Given the description of an element on the screen output the (x, y) to click on. 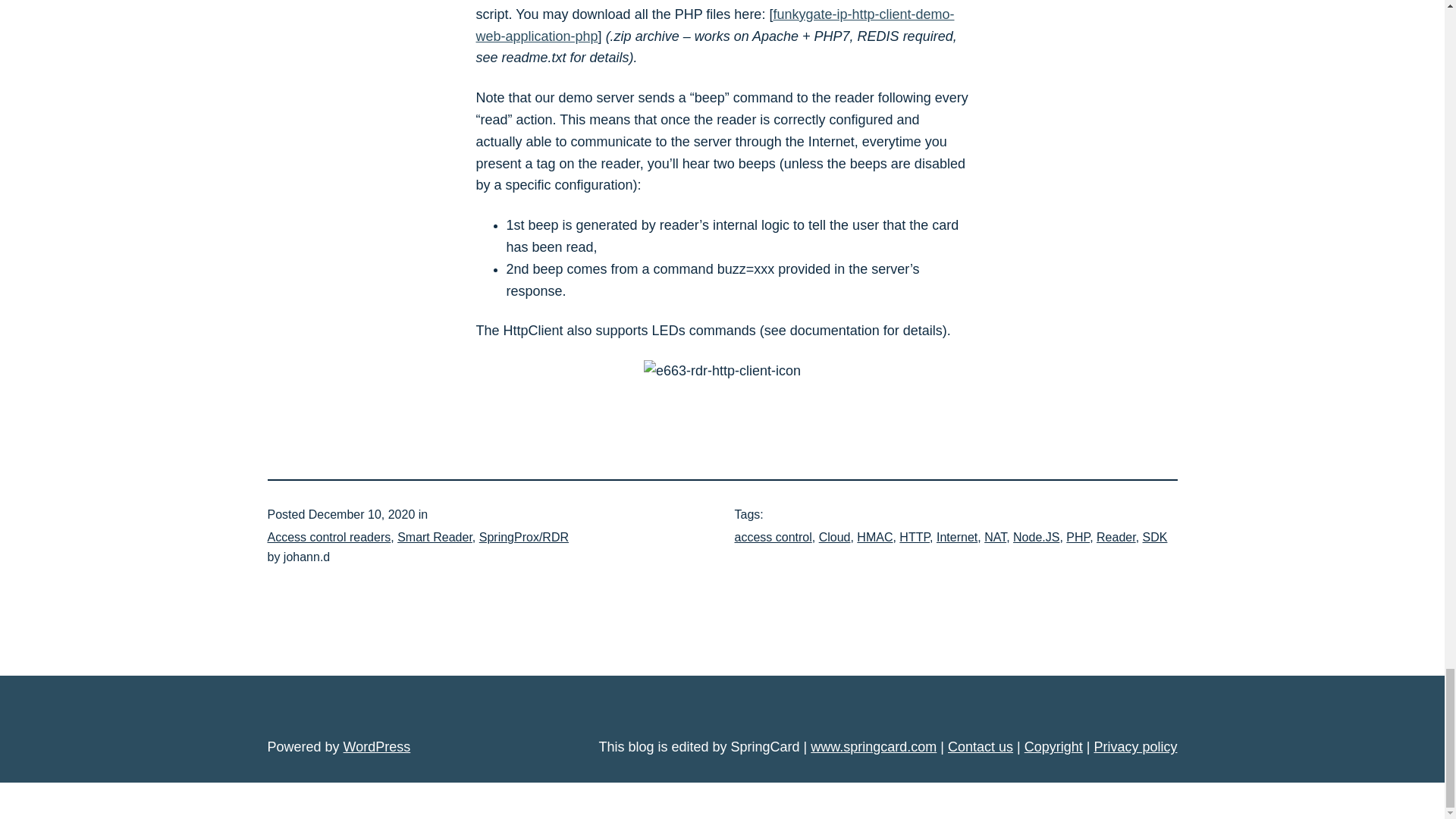
access control (771, 536)
Cloud (834, 536)
funkygate-ip-http-client-demo-web-application-php (715, 25)
Access control readers (328, 536)
HMAC (874, 536)
Smart Reader (434, 536)
